Given the description of an element on the screen output the (x, y) to click on. 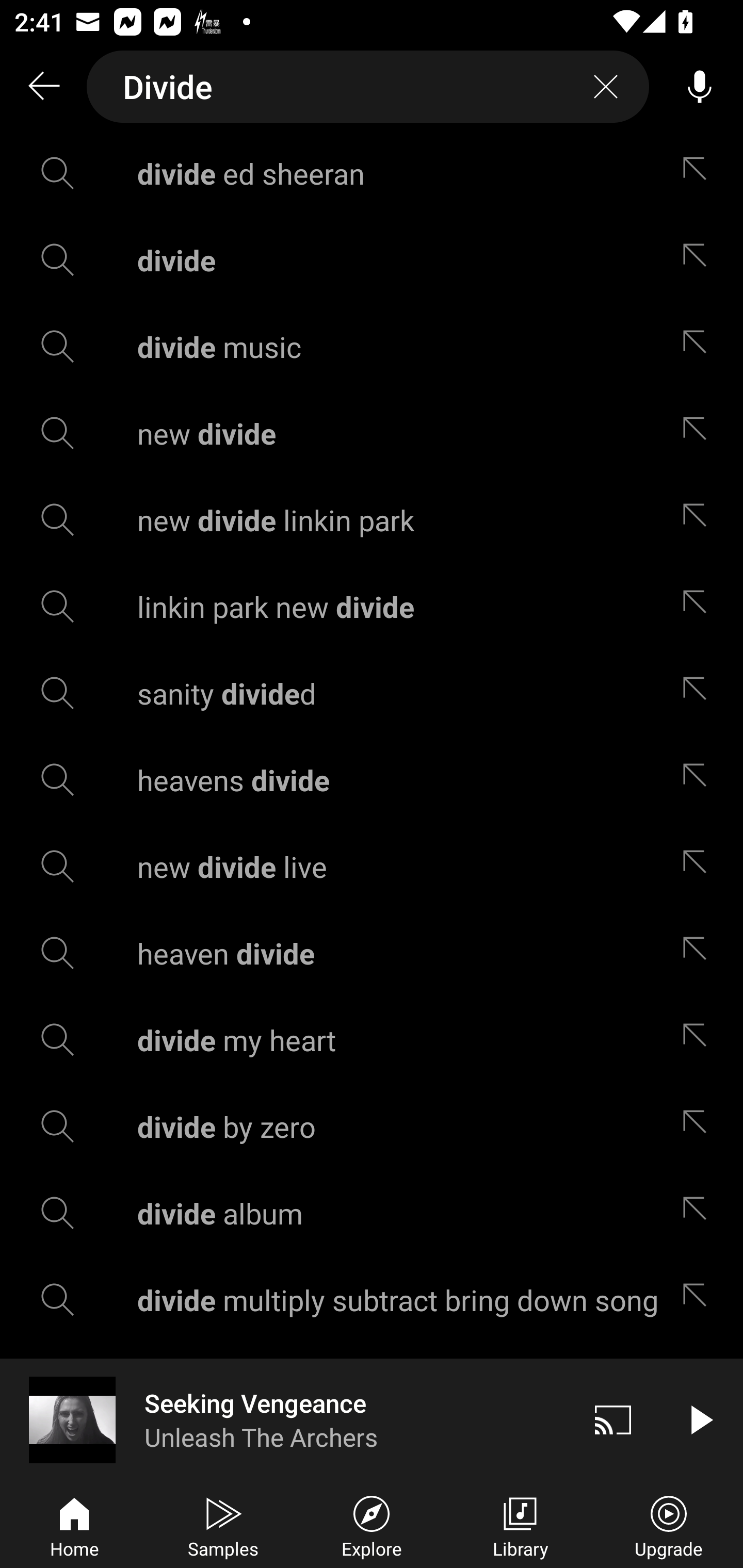
Search back (43, 86)
Divide (367, 86)
Clear search (605, 86)
Voice search (699, 86)
Edit suggestion divide ed sheeran (699, 173)
divide Edit suggestion divide (371, 259)
Edit suggestion divide (699, 259)
divide music Edit suggestion divide music (371, 346)
Edit suggestion divide music (699, 346)
new divide Edit suggestion new divide (371, 433)
Edit suggestion new divide (699, 433)
Edit suggestion new divide linkin park (699, 519)
Edit suggestion linkin park new divide (699, 605)
sanity divided Edit suggestion sanity divided (371, 692)
Edit suggestion sanity divided (699, 692)
heavens divide Edit suggestion heavens divide (371, 779)
Edit suggestion heavens divide (699, 779)
new divide live Edit suggestion new divide live (371, 866)
Edit suggestion new divide live (699, 866)
heaven divide Edit suggestion heaven divide (371, 953)
Edit suggestion heaven divide (699, 953)
divide my heart Edit suggestion divide my heart (371, 1040)
Edit suggestion divide my heart (699, 1040)
divide by zero Edit suggestion divide by zero (371, 1126)
Edit suggestion divide by zero (699, 1126)
divide album Edit suggestion divide album (371, 1212)
Edit suggestion divide album (699, 1212)
Seeking Vengeance Unleash The Archers (284, 1419)
Cast. Disconnected (612, 1419)
Play video (699, 1419)
Home (74, 1524)
Samples (222, 1524)
Explore (371, 1524)
Library (519, 1524)
Upgrade (668, 1524)
